Given the description of an element on the screen output the (x, y) to click on. 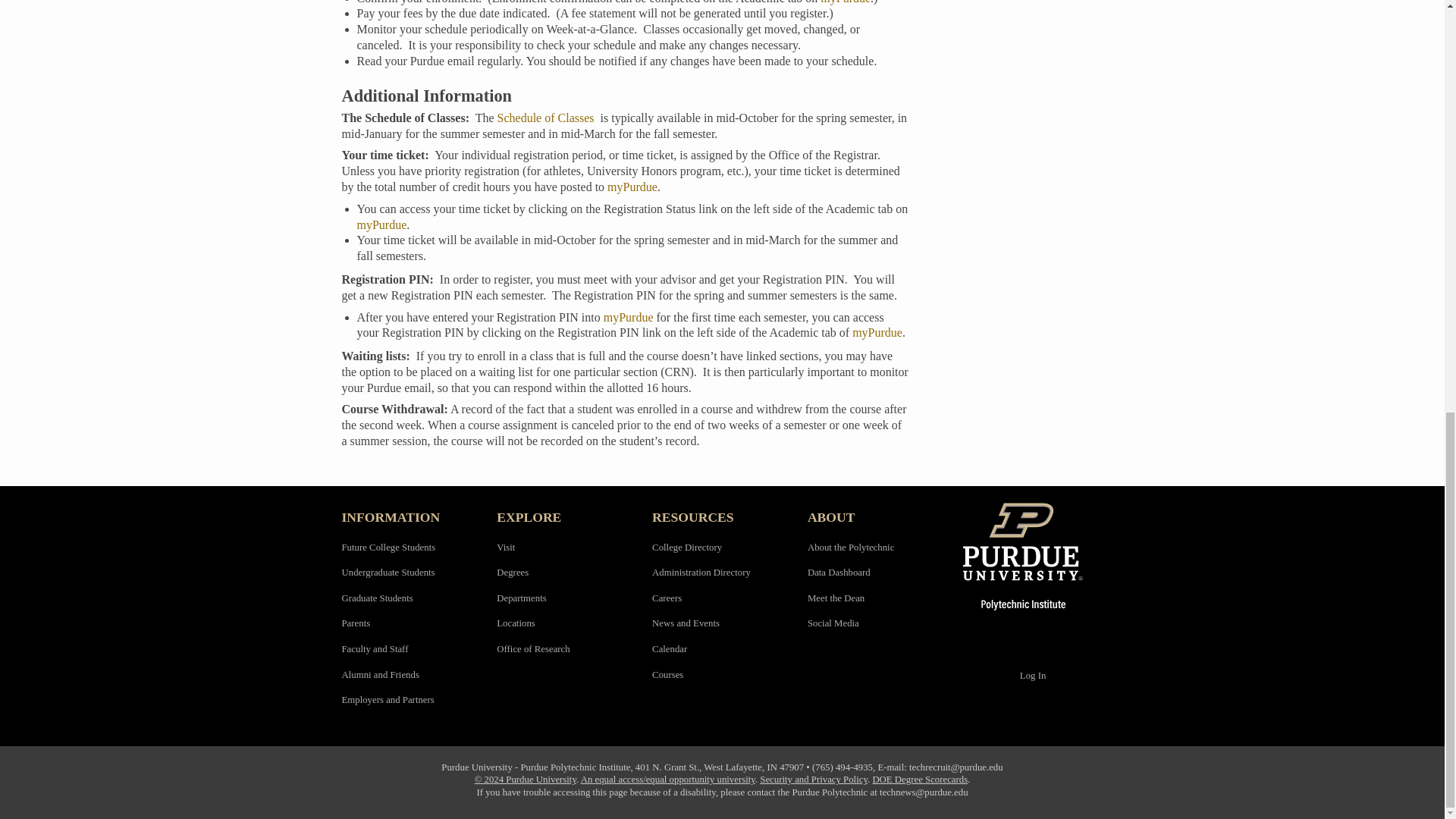
Purdue Polytechnic Institute (1032, 556)
